Given the description of an element on the screen output the (x, y) to click on. 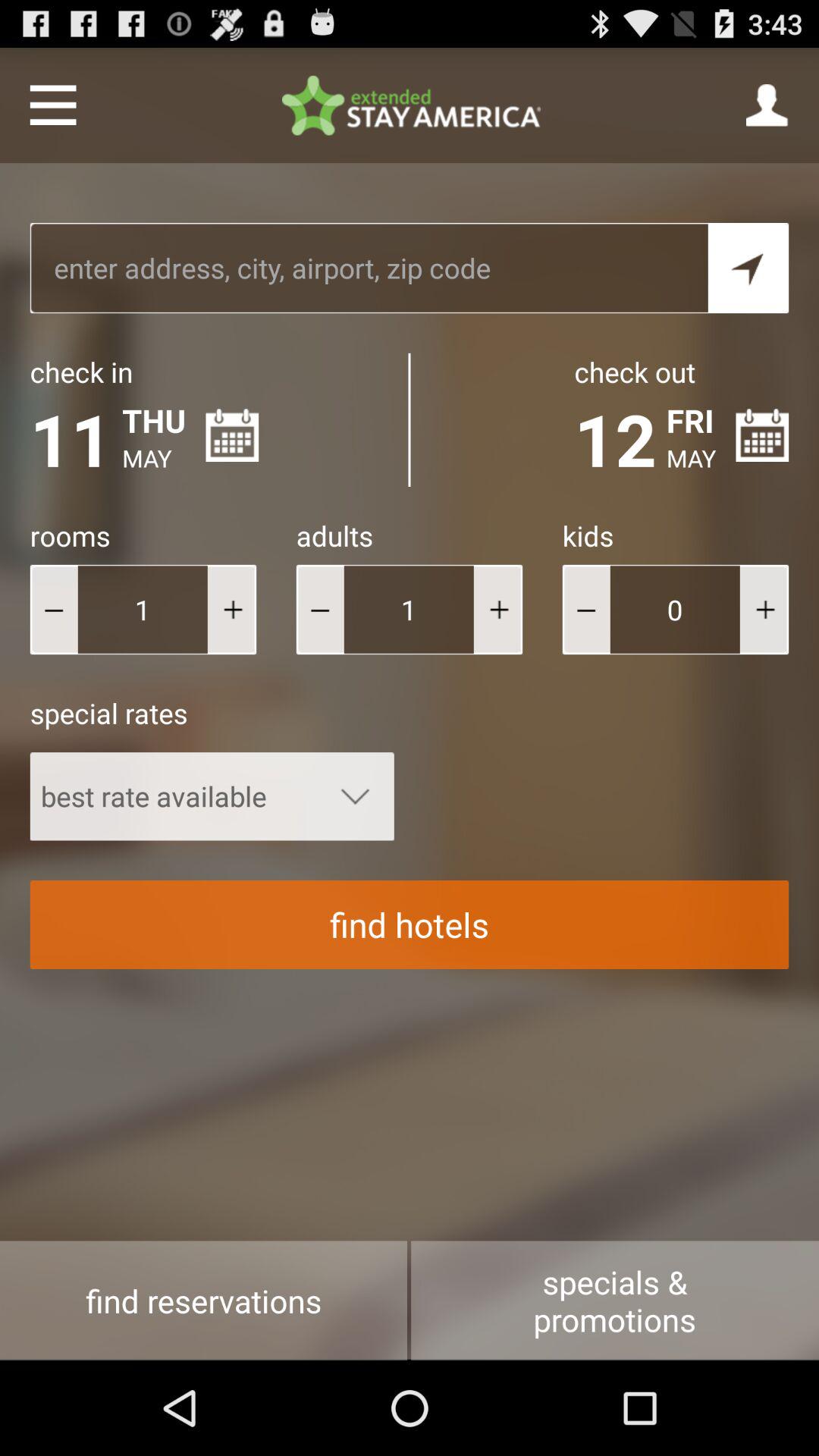
show calendar (761, 434)
